Given the description of an element on the screen output the (x, y) to click on. 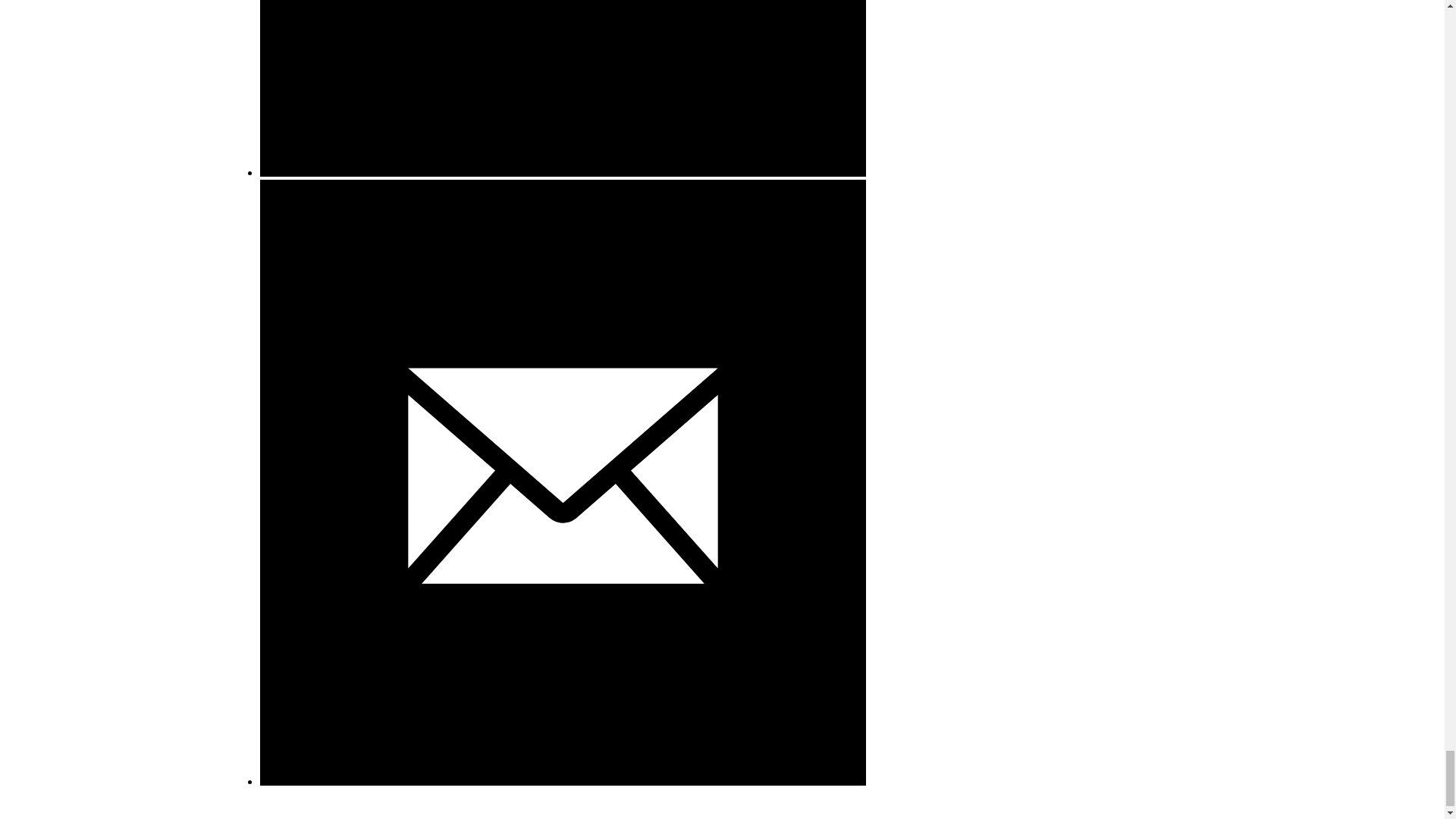
email (561, 780)
linkedIn (561, 172)
linkedIn (561, 88)
